Given the description of an element on the screen output the (x, y) to click on. 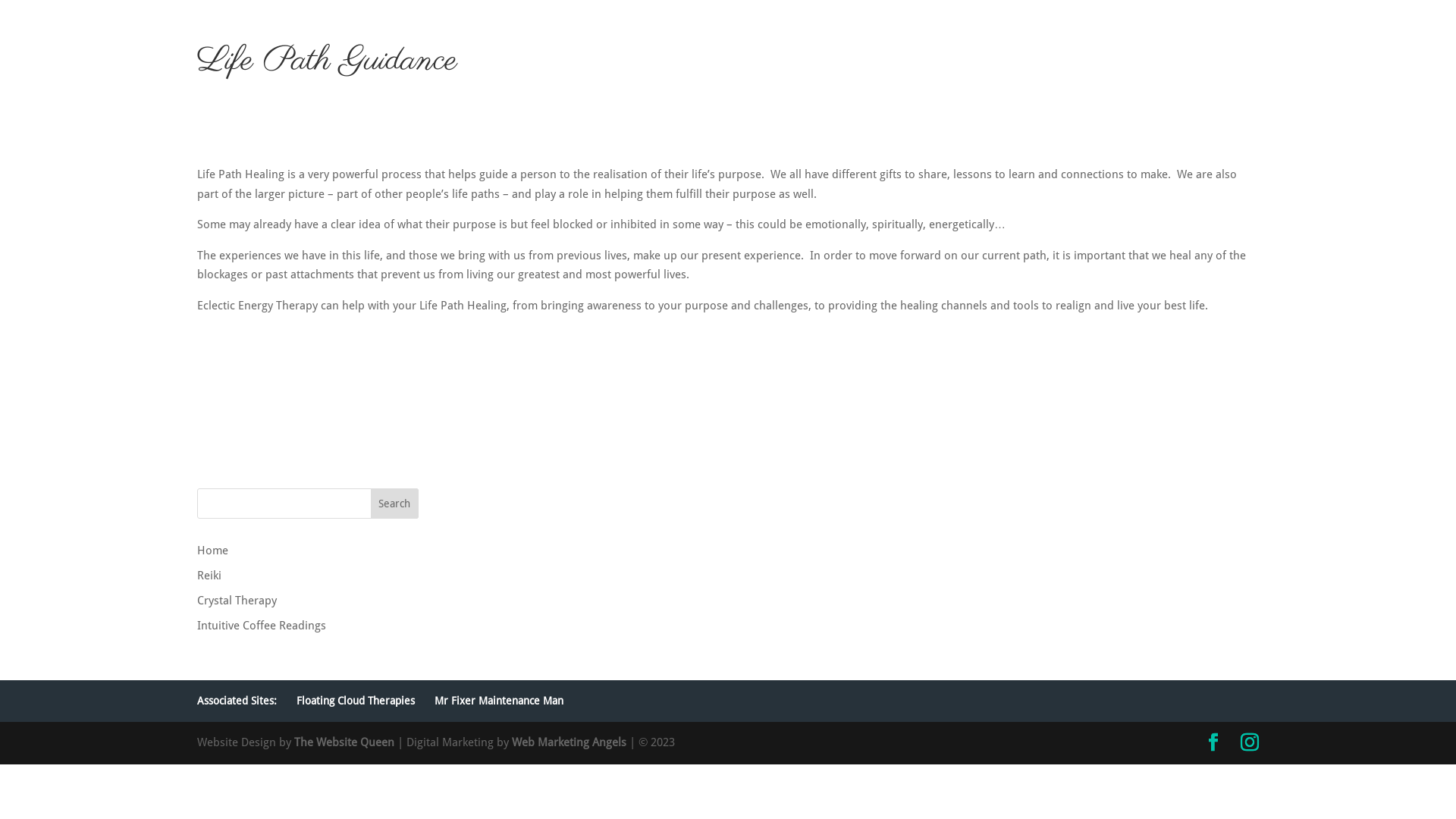
Search Element type: text (394, 503)
Crystal Therapy Element type: text (236, 600)
Mr Fixer Maintenance Man Element type: text (498, 700)
Floating Cloud Therapies Element type: text (355, 700)
Web Marketing Angels Element type: text (568, 742)
Intuitive Coffee Readings Element type: text (261, 625)
The Website Queen Element type: text (344, 742)
Associated Sites: Element type: text (236, 700)
Home Element type: text (212, 550)
Reiki Element type: text (209, 575)
